Given the description of an element on the screen output the (x, y) to click on. 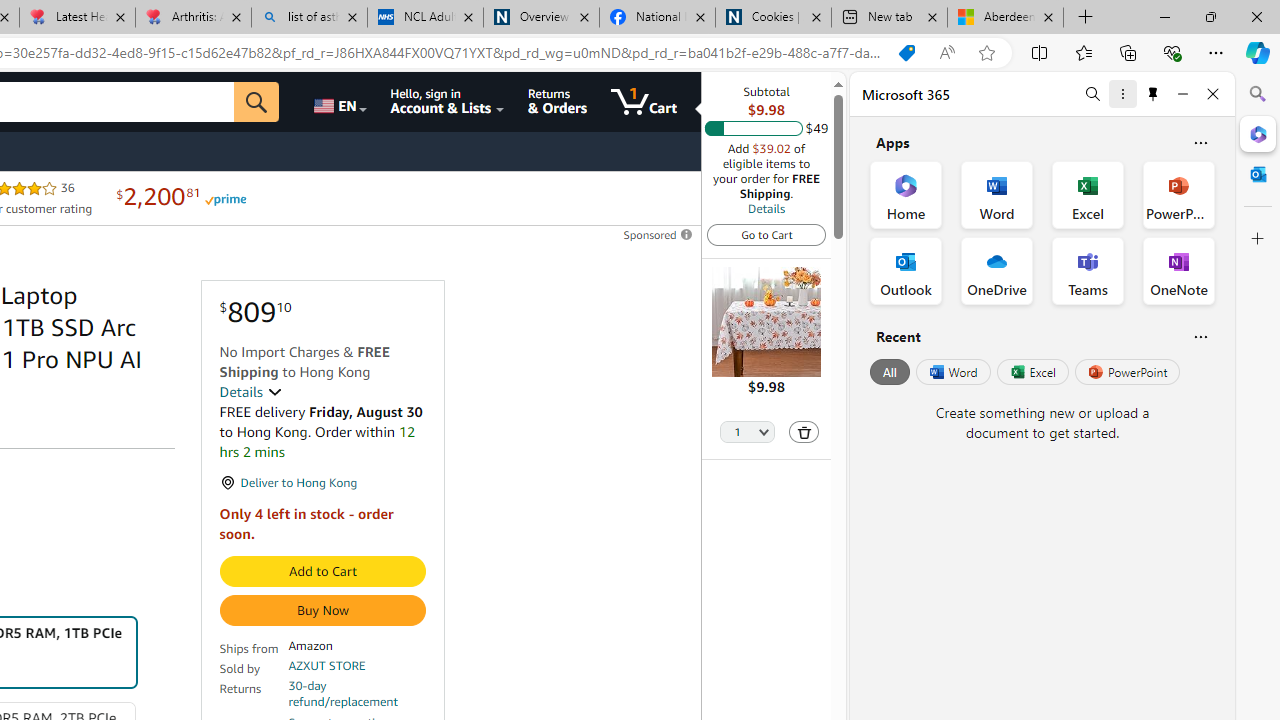
Delete (803, 431)
1 item in cart (643, 101)
Choose a language for shopping. (339, 101)
Teams Office App (1087, 270)
Details  (250, 391)
Prime (224, 198)
PowerPoint (1127, 372)
Word (952, 372)
